Given the description of an element on the screen output the (x, y) to click on. 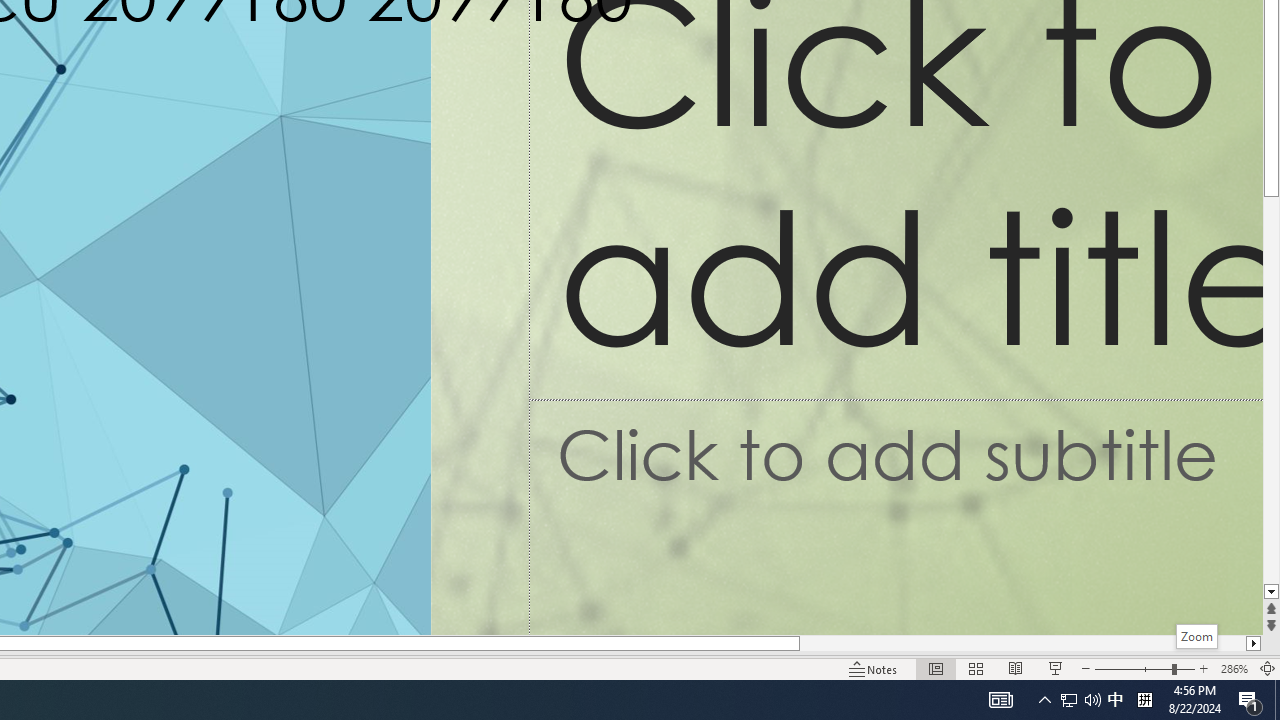
Zoom 286% (1234, 668)
